Given the description of an element on the screen output the (x, y) to click on. 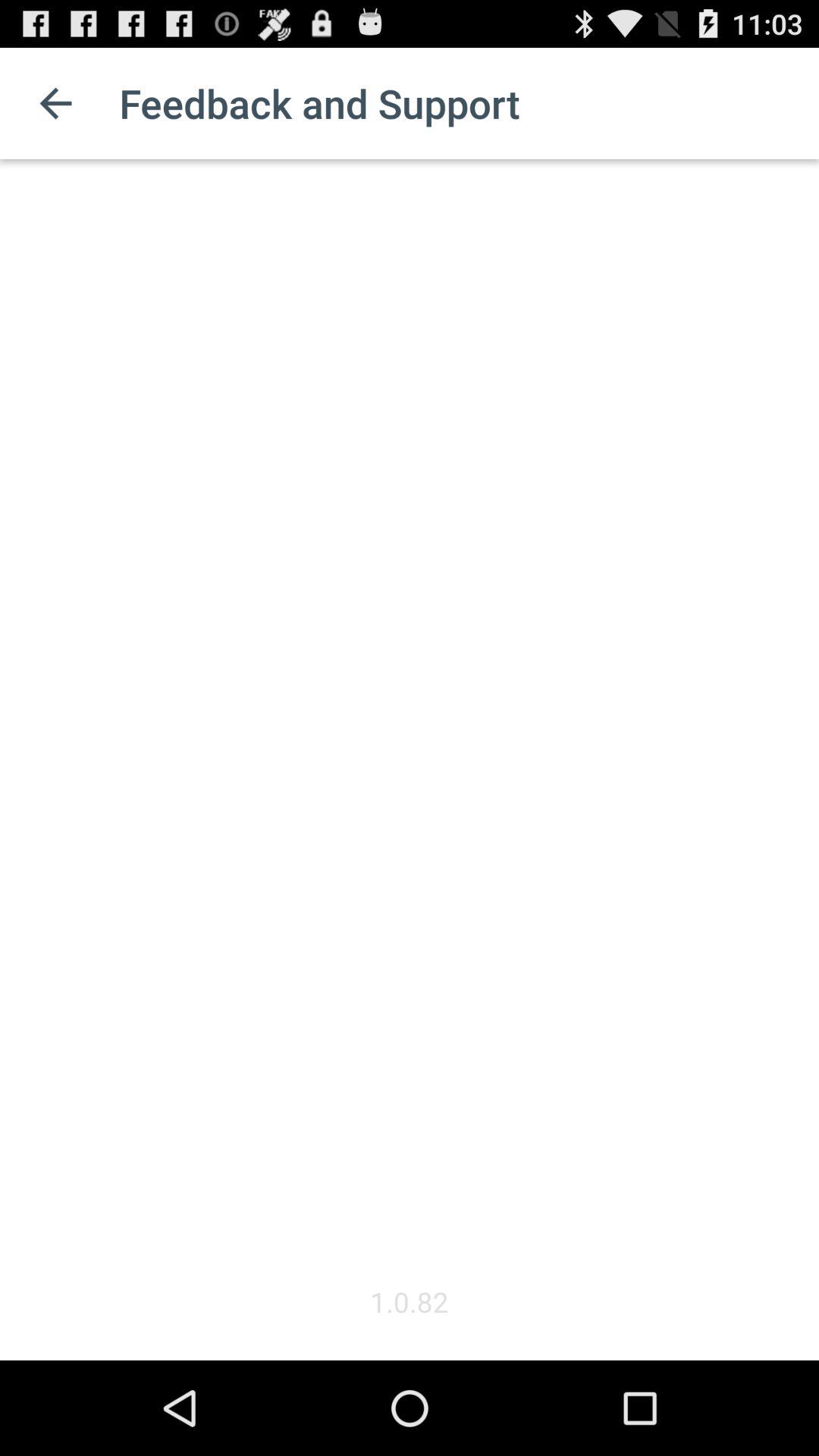
turn off the icon at the center (409, 721)
